Given the description of an element on the screen output the (x, y) to click on. 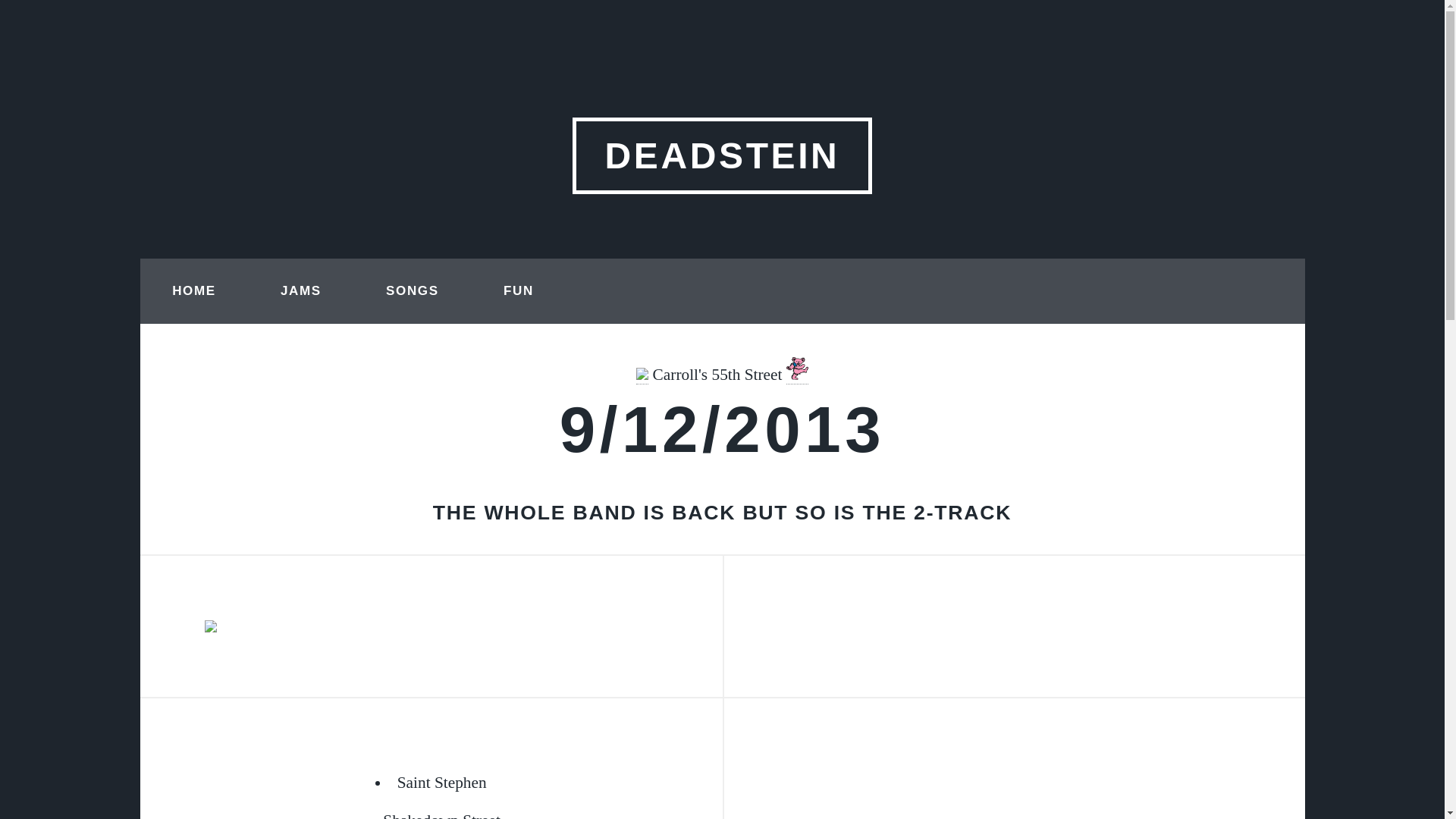
JAMS (300, 290)
HOME (193, 290)
SONGS (411, 290)
FUN (518, 290)
DEADSTEIN (721, 155)
